Given the description of an element on the screen output the (x, y) to click on. 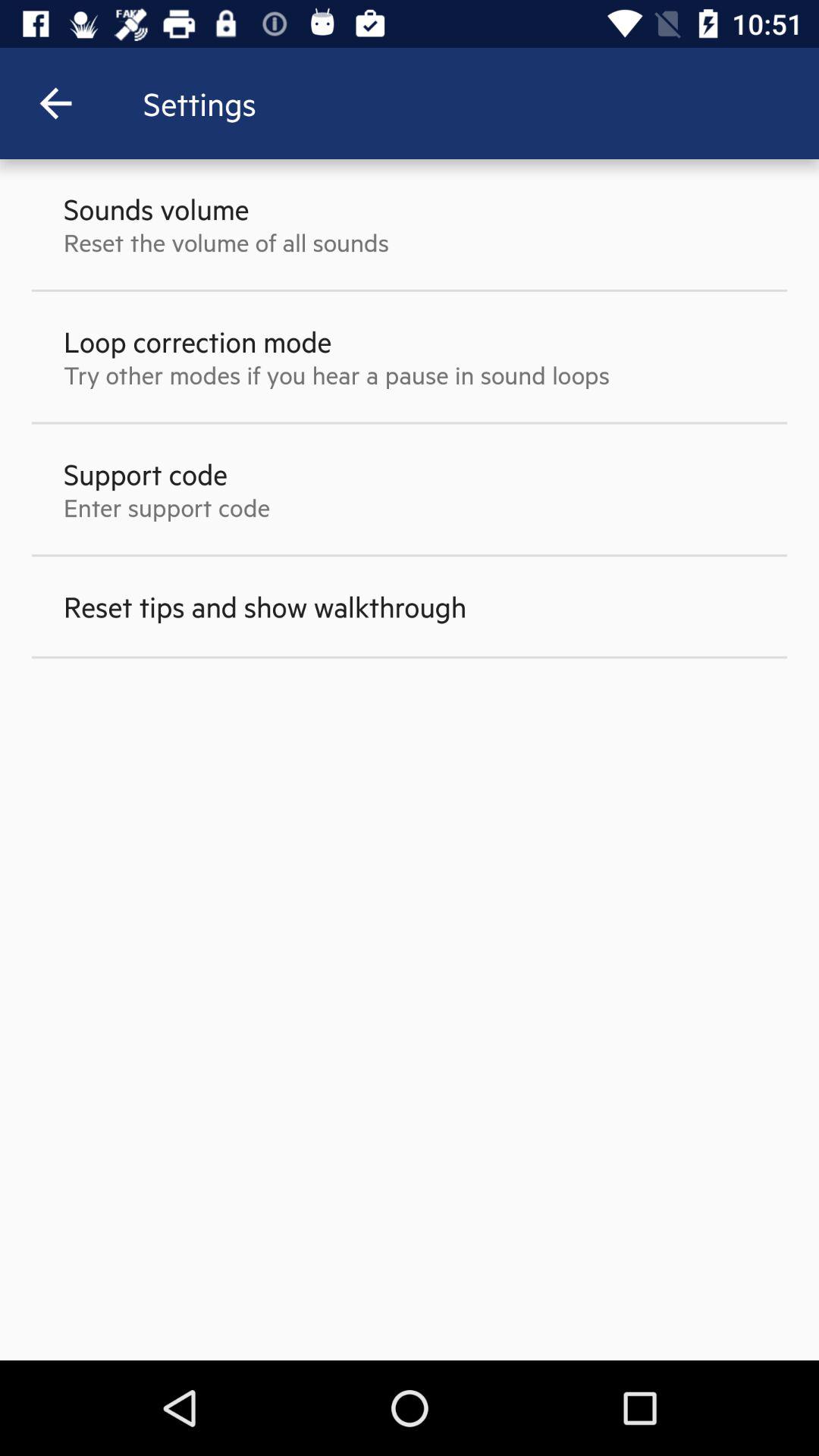
scroll until reset the volume item (226, 241)
